Given the description of an element on the screen output the (x, y) to click on. 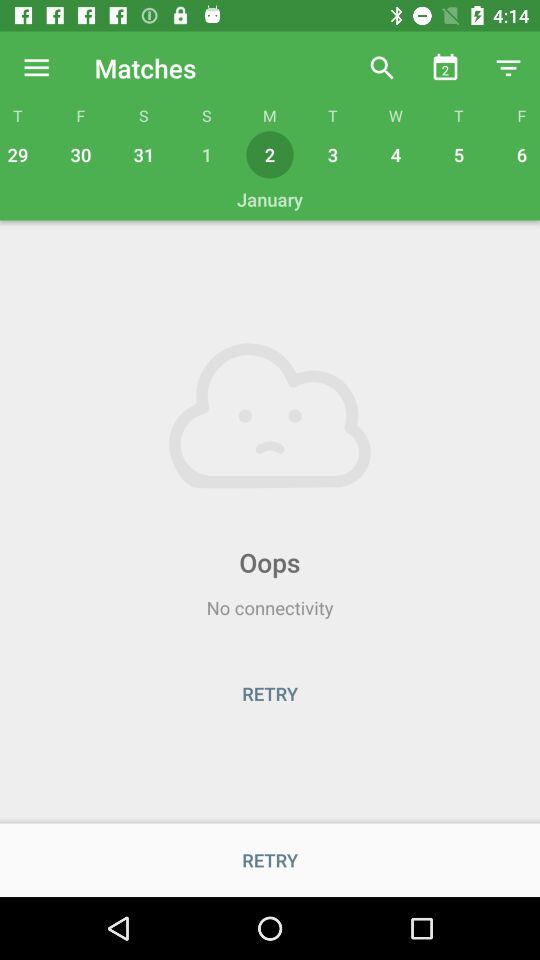
select the icon below the t item (458, 154)
